Given the description of an element on the screen output the (x, y) to click on. 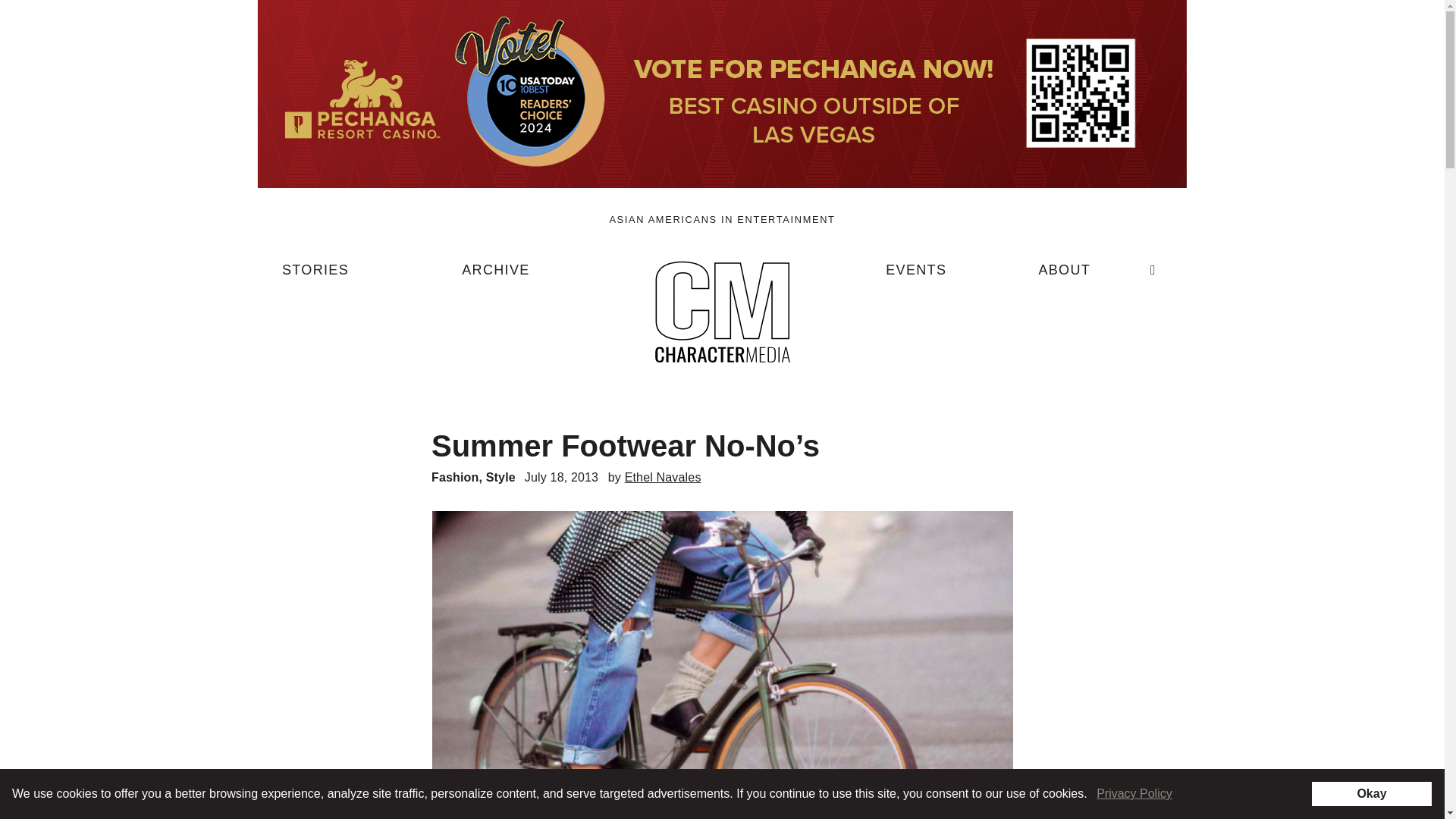
EVENTS (915, 276)
Fashion (454, 477)
ABOUT (1064, 276)
STORIES (315, 276)
Ethel Navales (662, 477)
ARCHIVE (495, 276)
Style (500, 477)
